Given the description of an element on the screen output the (x, y) to click on. 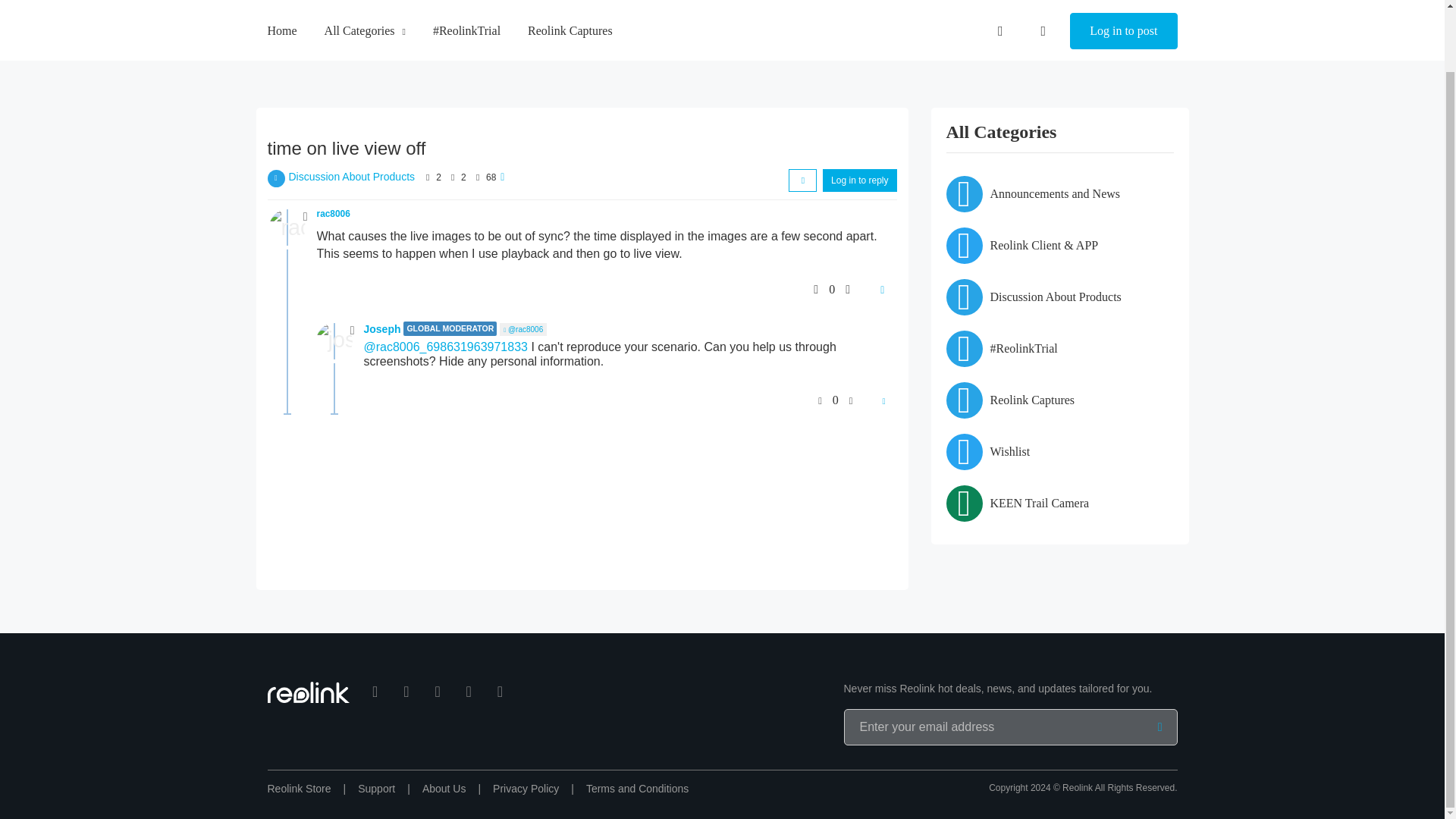
Discussion About Products (351, 176)
Posters (427, 176)
Views (477, 176)
Home (281, 3)
68 (491, 176)
Sort by (802, 179)
Reolink Captures (569, 3)
Log in to post (1123, 10)
rac8006 (333, 213)
Posts (452, 176)
